Given the description of an element on the screen output the (x, y) to click on. 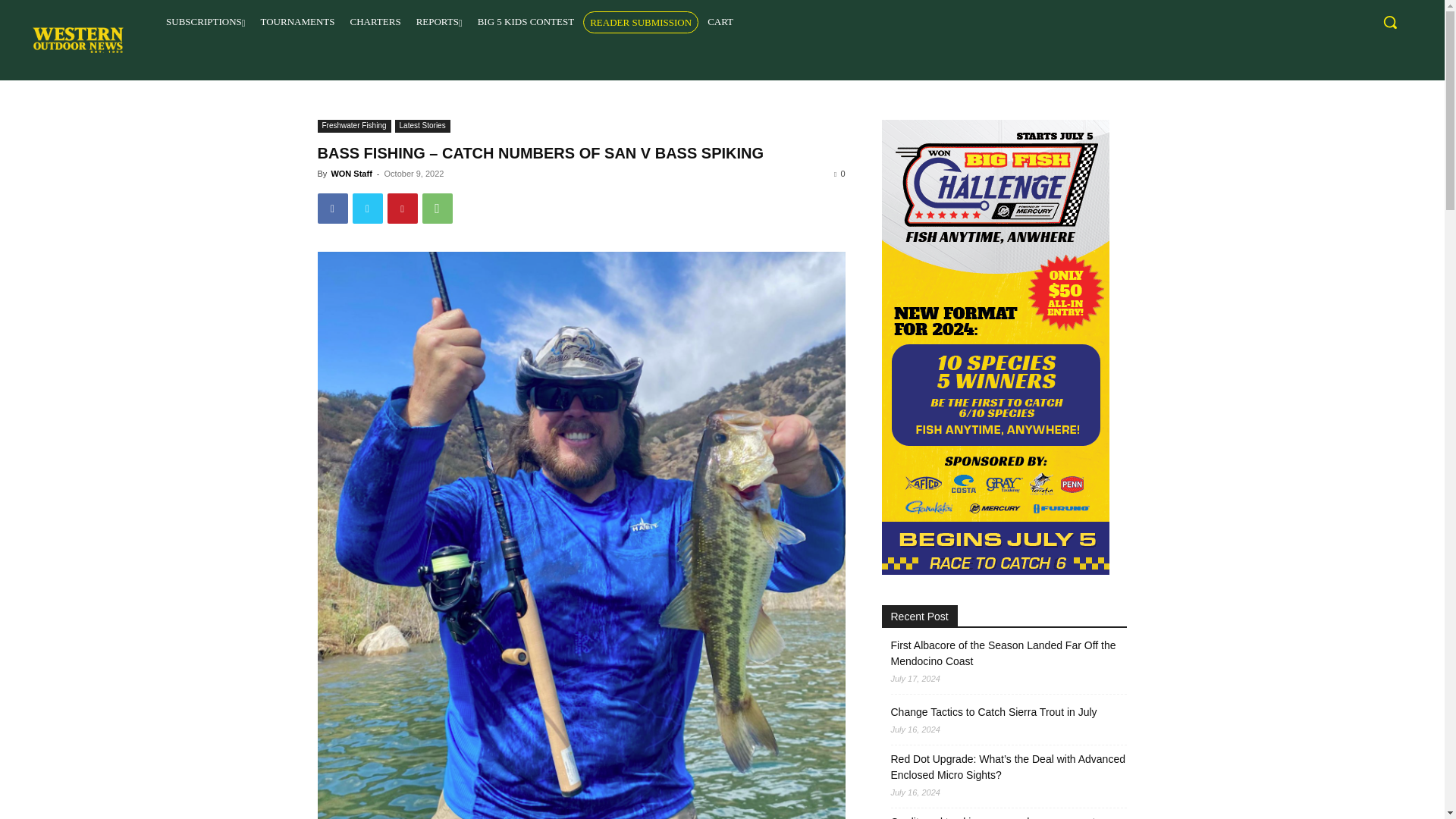
Twitter (366, 208)
Pinterest (401, 208)
logo (77, 40)
WhatsApp (436, 208)
Facebook (332, 208)
